Given the description of an element on the screen output the (x, y) to click on. 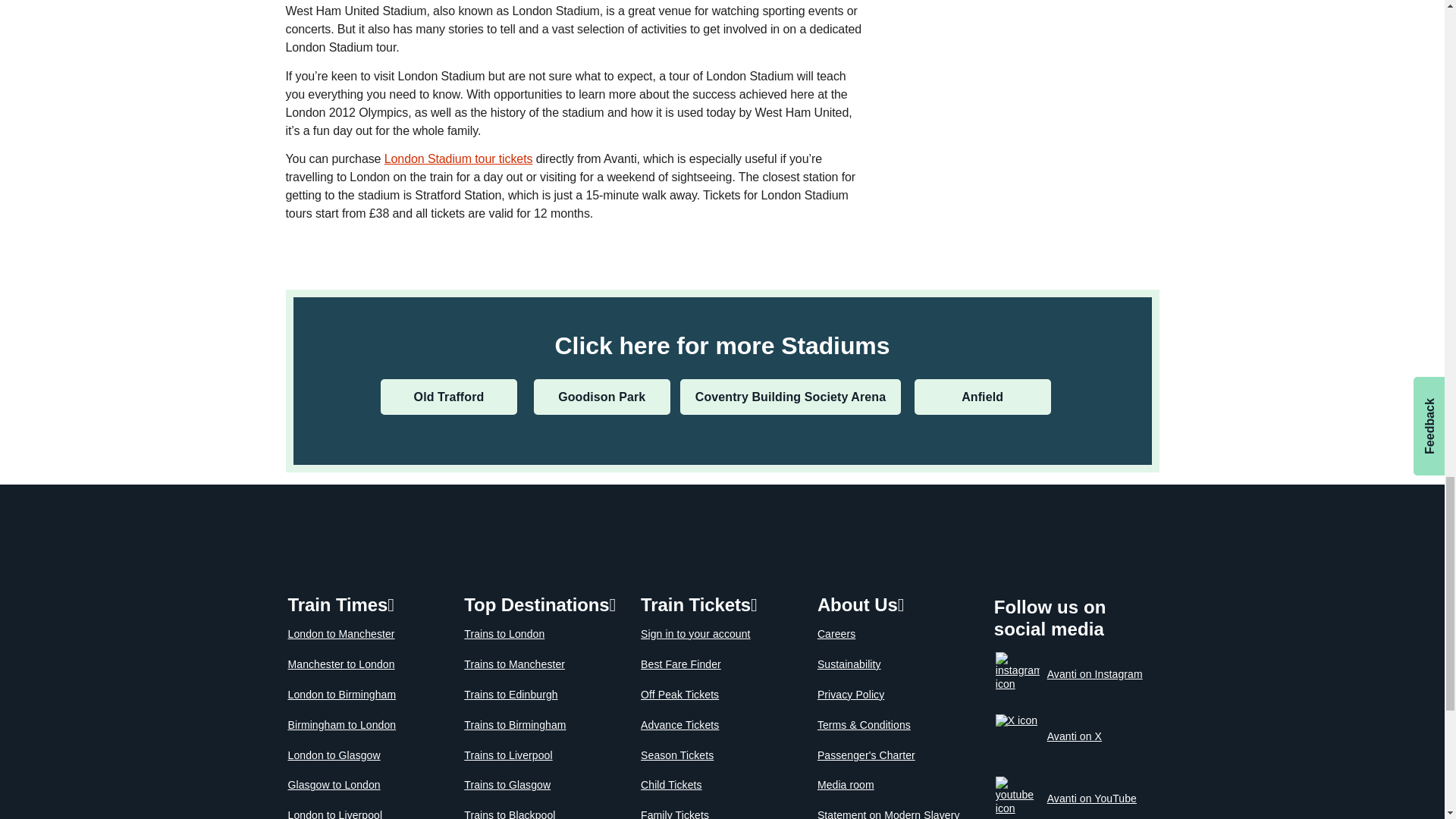
London Stadium tour tickets (458, 158)
Old Trafford (448, 396)
Goodison Park (601, 396)
